Given the description of an element on the screen output the (x, y) to click on. 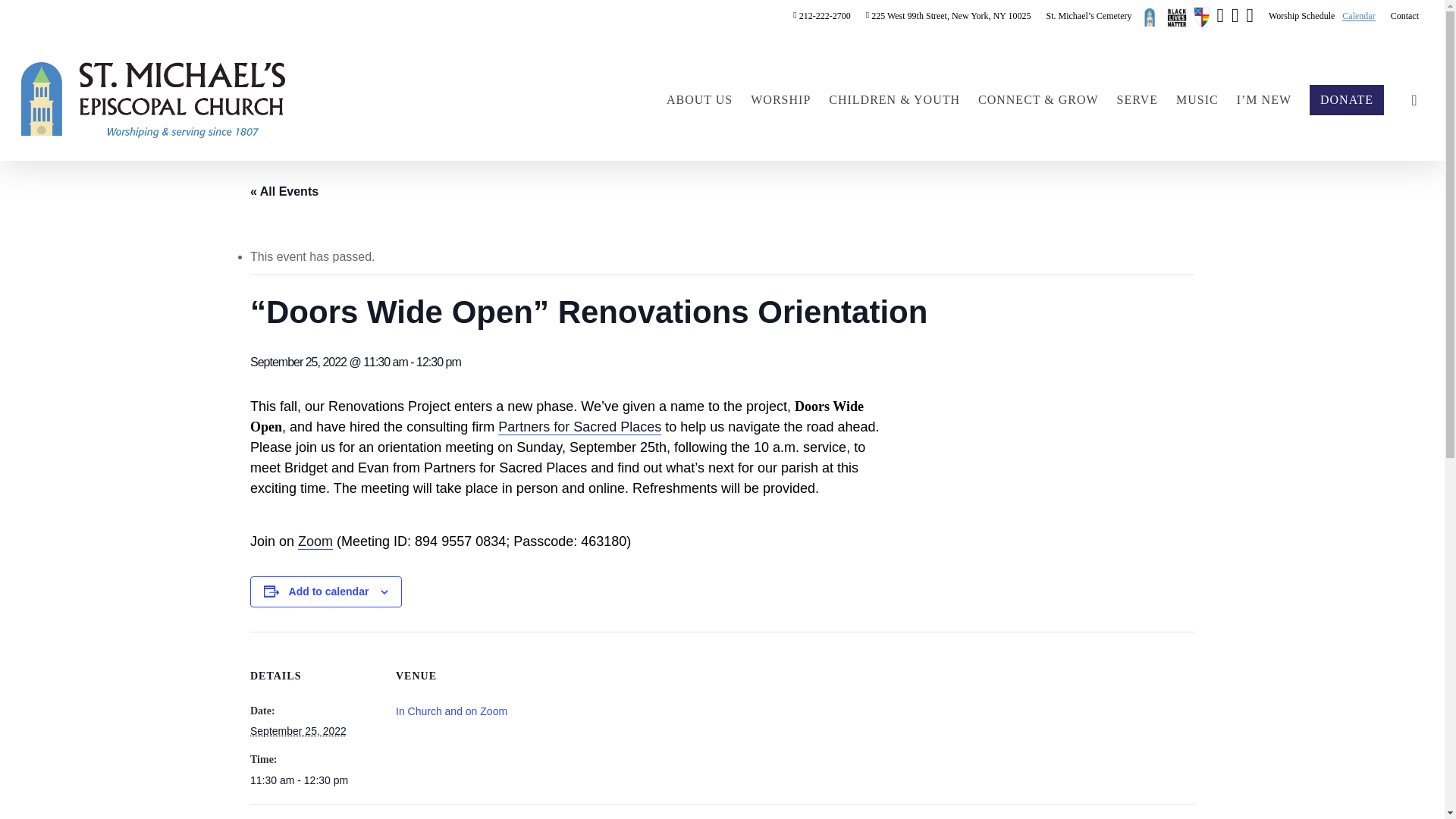
Contact (1404, 15)
2022-09-25 (298, 730)
225 West 99th Street, New York, NY 10025 (948, 15)
Worship Schedule (1301, 15)
2022-09-25 (313, 780)
212-222-2700 (821, 15)
WORSHIP (780, 99)
Calendar (1358, 15)
ABOUT US (699, 99)
